Given the description of an element on the screen output the (x, y) to click on. 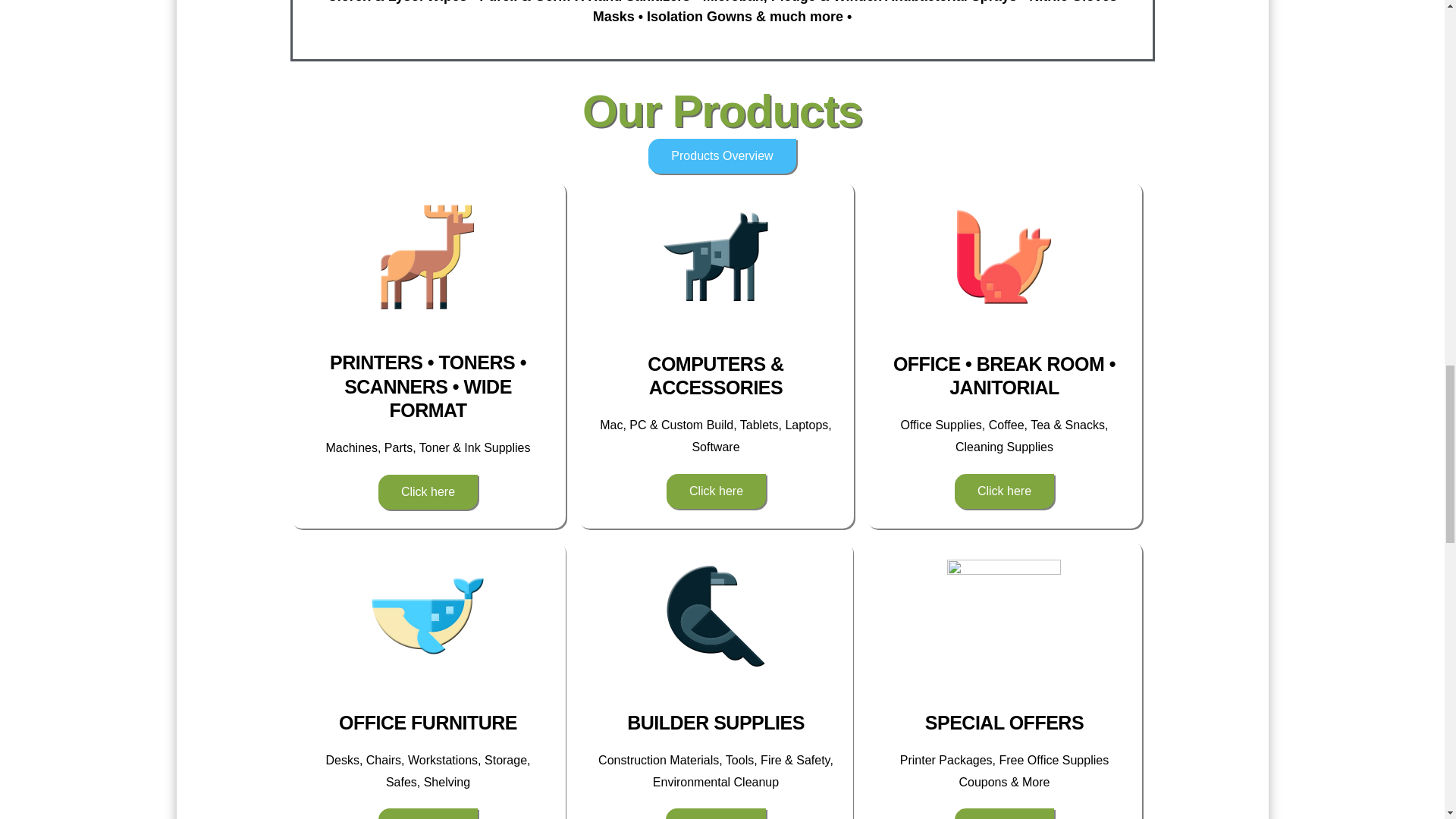
Click here (427, 813)
Click here (715, 491)
Click here (1004, 813)
Click here (427, 492)
Products Overview (720, 155)
Click here (715, 813)
Click here (1004, 491)
